Given the description of an element on the screen output the (x, y) to click on. 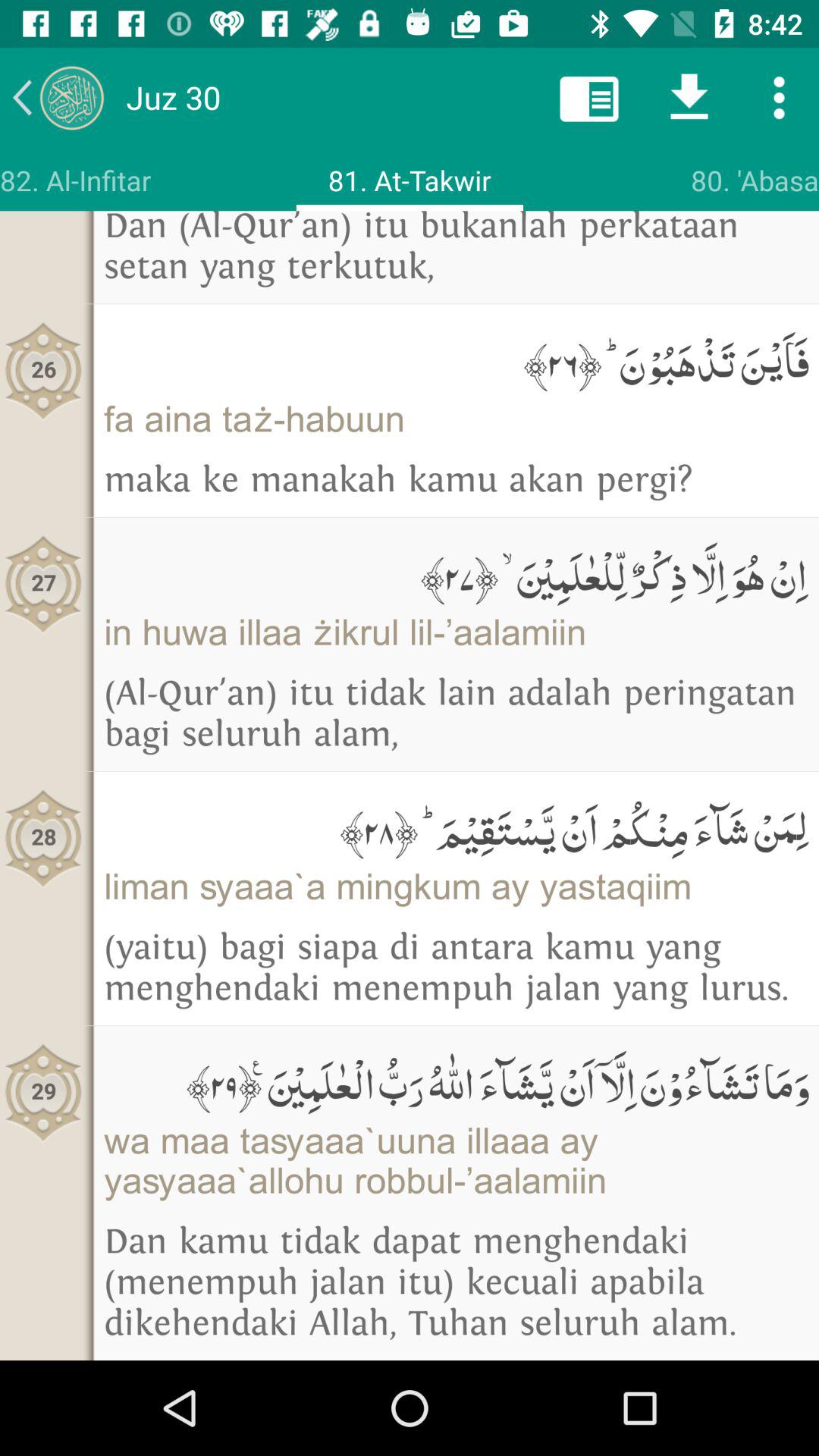
tap the icon below liman saaa a icon (456, 968)
